Given the description of an element on the screen output the (x, y) to click on. 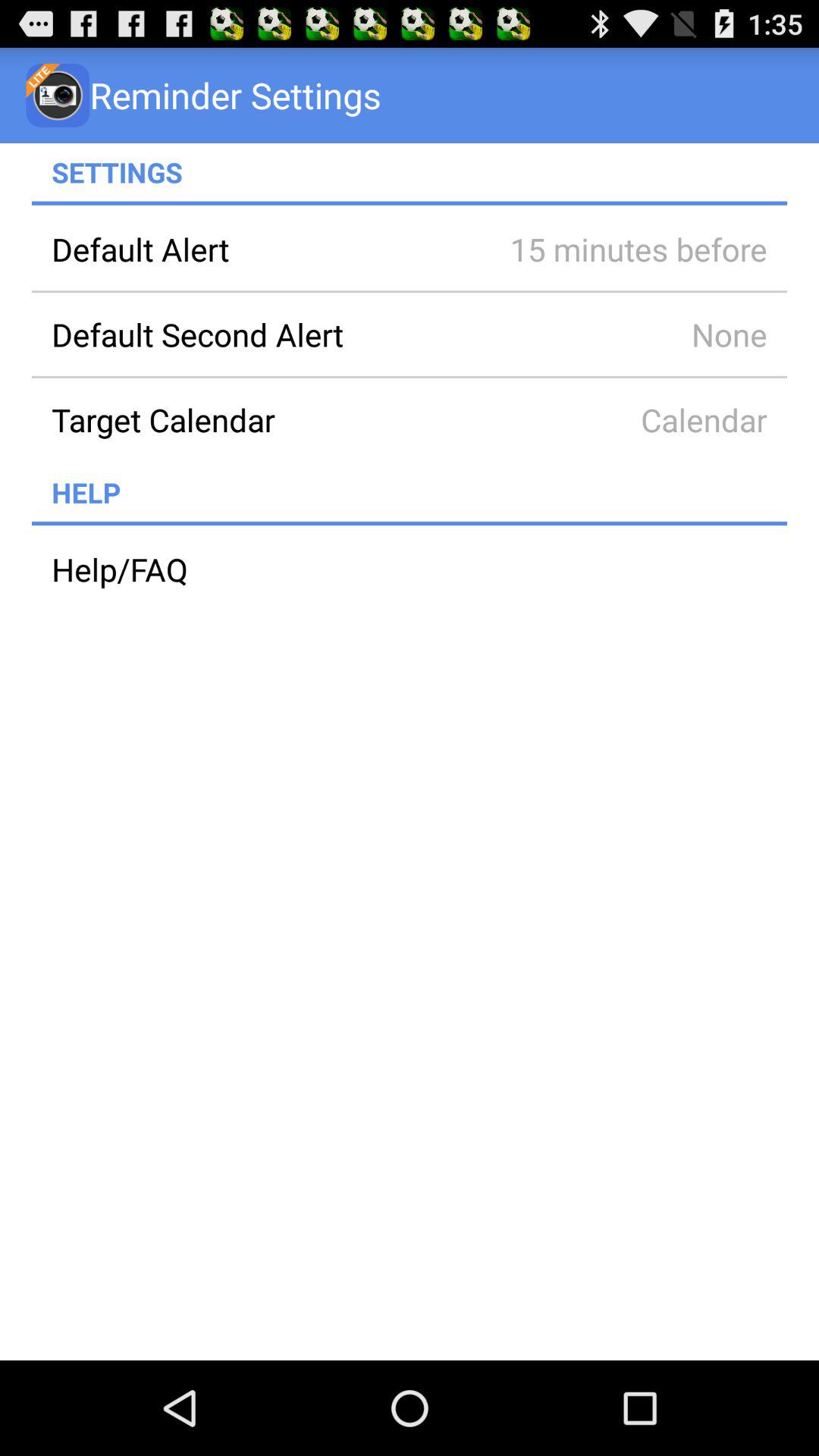
scroll to the none app (617, 334)
